Given the description of an element on the screen output the (x, y) to click on. 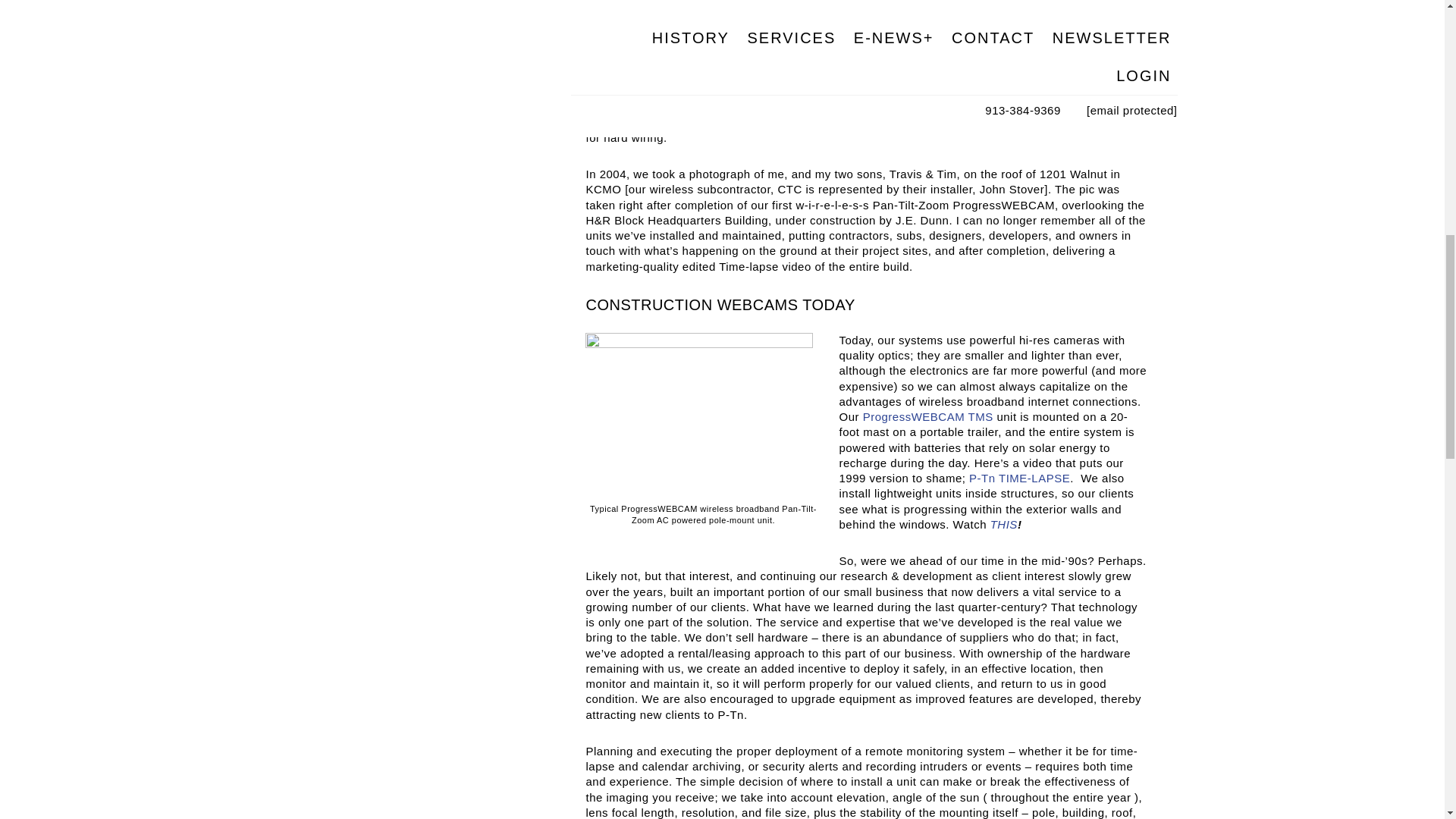
THIS (1003, 523)
ProgressWEBCAM TMS (927, 416)
P-Tn TIME-LAPSE (1019, 477)
